Given the description of an element on the screen output the (x, y) to click on. 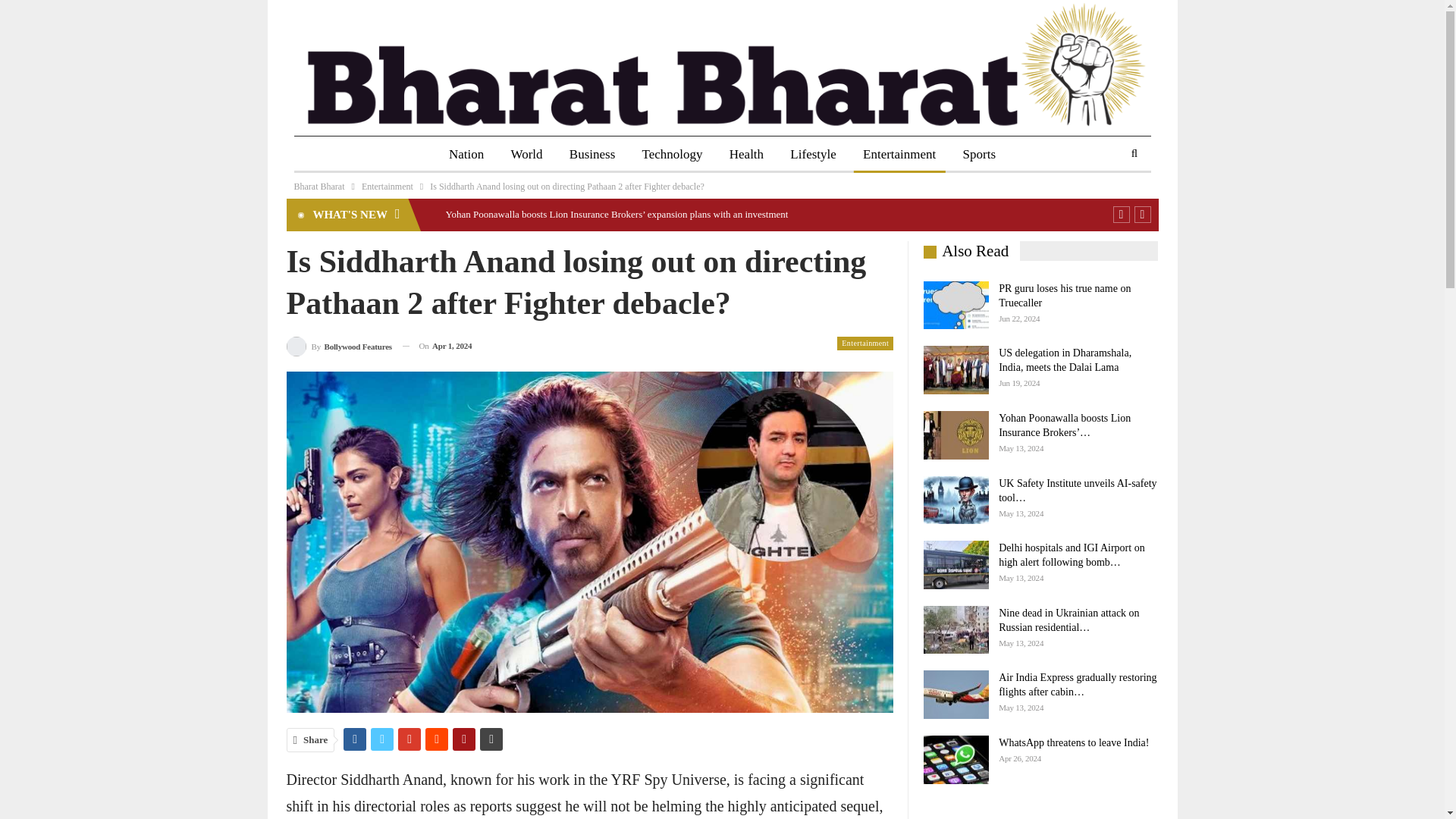
Entertainment (387, 186)
PR guru loses his true name on Truecaller (955, 305)
By Bollywood Features (338, 344)
Entertainment (865, 343)
Entertainment (898, 154)
Business (592, 154)
Nation (466, 154)
Bharat Bharat (319, 186)
Health (746, 154)
Browse Author Articles (338, 344)
Technology (672, 154)
US delegation in Dharamshala, India, meets the Dalai Lama (955, 369)
World (525, 154)
Lifestyle (812, 154)
Sports (978, 154)
